Given the description of an element on the screen output the (x, y) to click on. 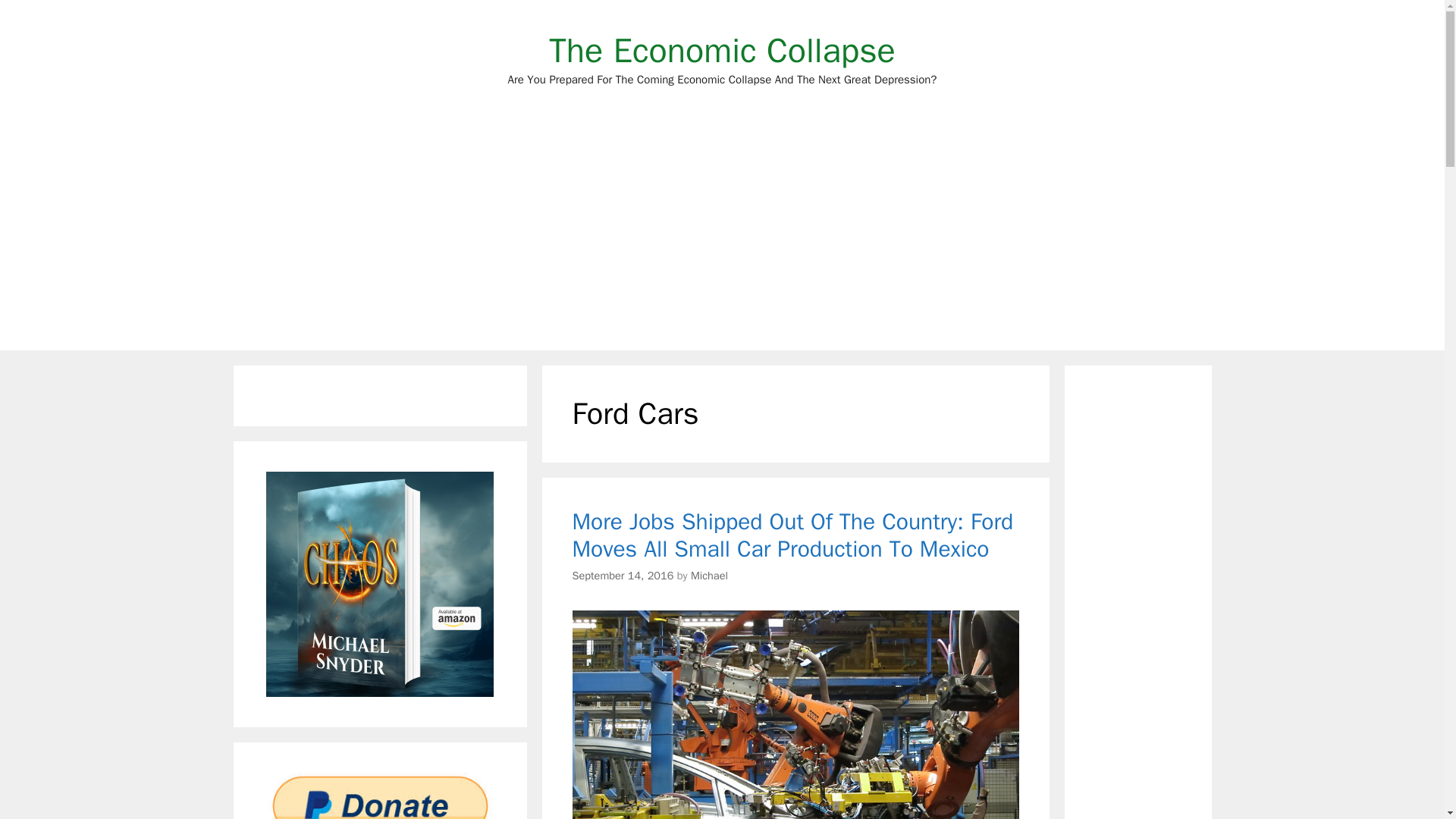
September 14, 2016 (622, 575)
Michael (709, 575)
The Economic Collapse (721, 50)
View all posts by Michael (709, 575)
Advertisement (721, 50)
